Given the description of an element on the screen output the (x, y) to click on. 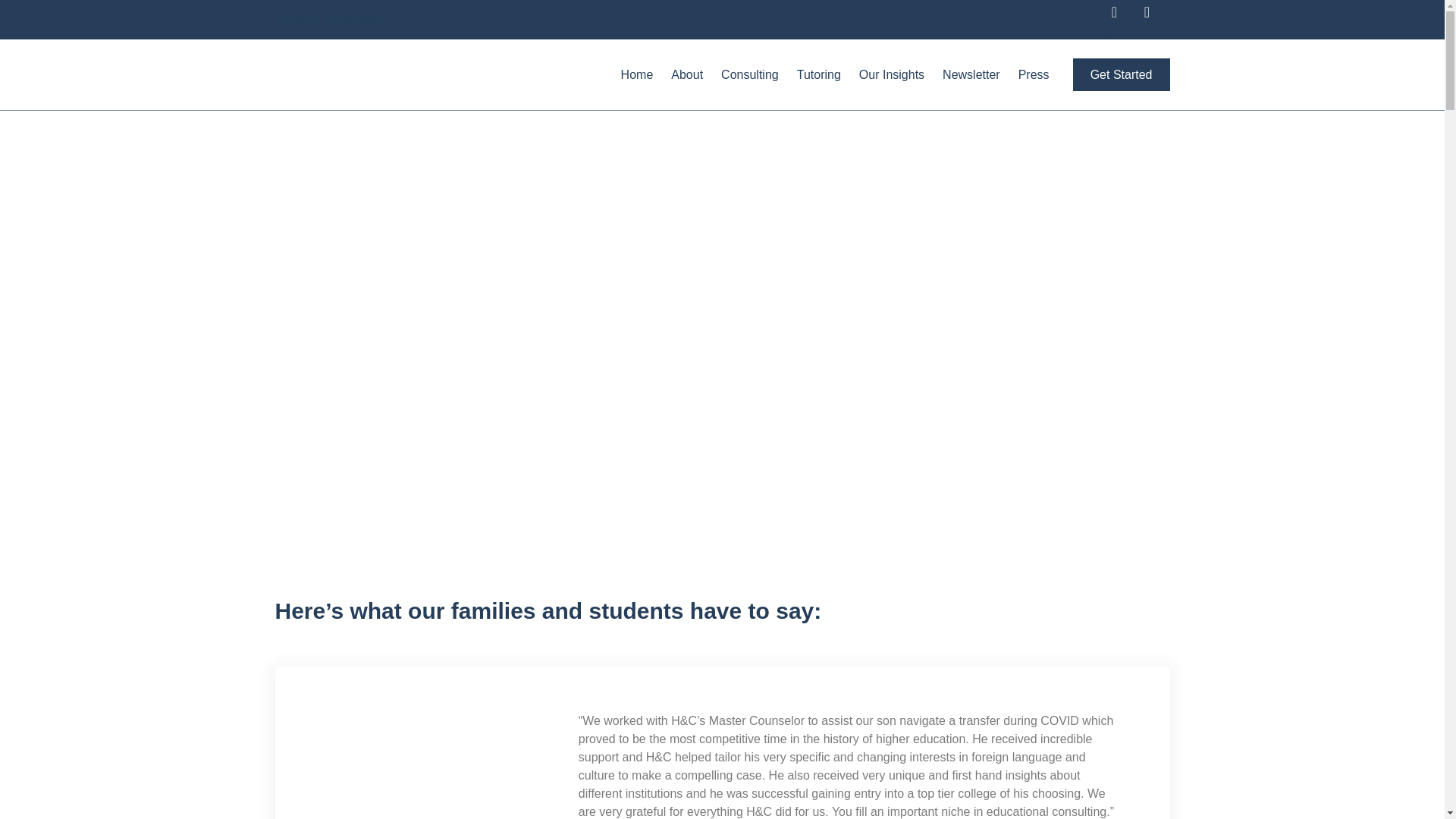
Press (1033, 74)
Consulting (749, 74)
Newsletter (971, 74)
Tutoring (818, 74)
About (686, 74)
Home (636, 74)
Our Insights (891, 74)
Get Started (1121, 74)
